Given the description of an element on the screen output the (x, y) to click on. 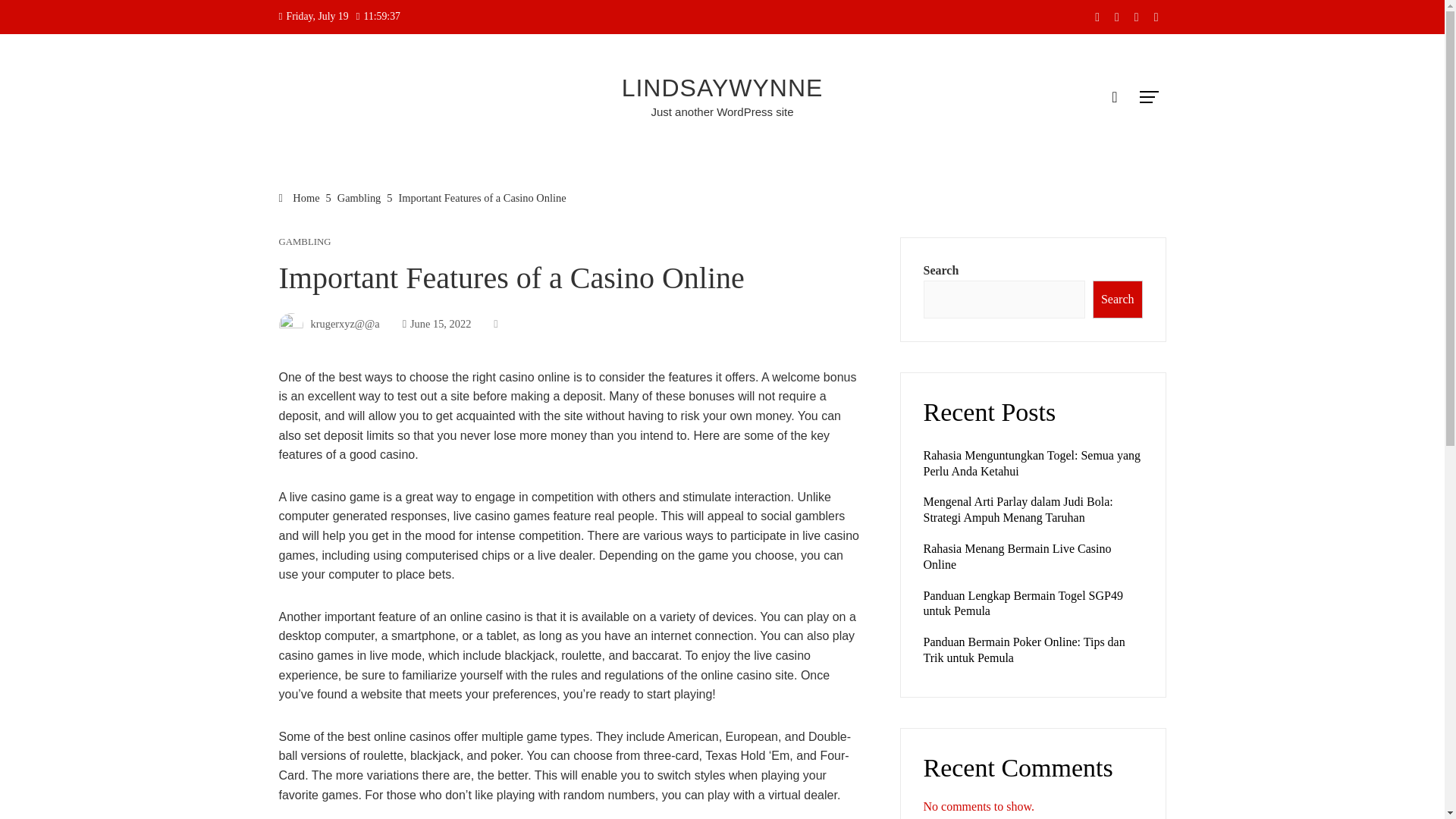
Search (1117, 299)
Panduan Lengkap Bermain Togel SGP49 untuk Pemula (1022, 603)
Gambling (359, 197)
LINDSAYWYNNE (722, 87)
Panduan Bermain Poker Online: Tips dan Trik untuk Pemula (1024, 649)
Home (299, 197)
Just another WordPress site (721, 111)
GAMBLING (305, 242)
Rahasia Menang Bermain Live Casino Online (1017, 556)
Rahasia Menguntungkan Togel: Semua yang Perlu Anda Ketahui (1032, 462)
